Given the description of an element on the screen output the (x, y) to click on. 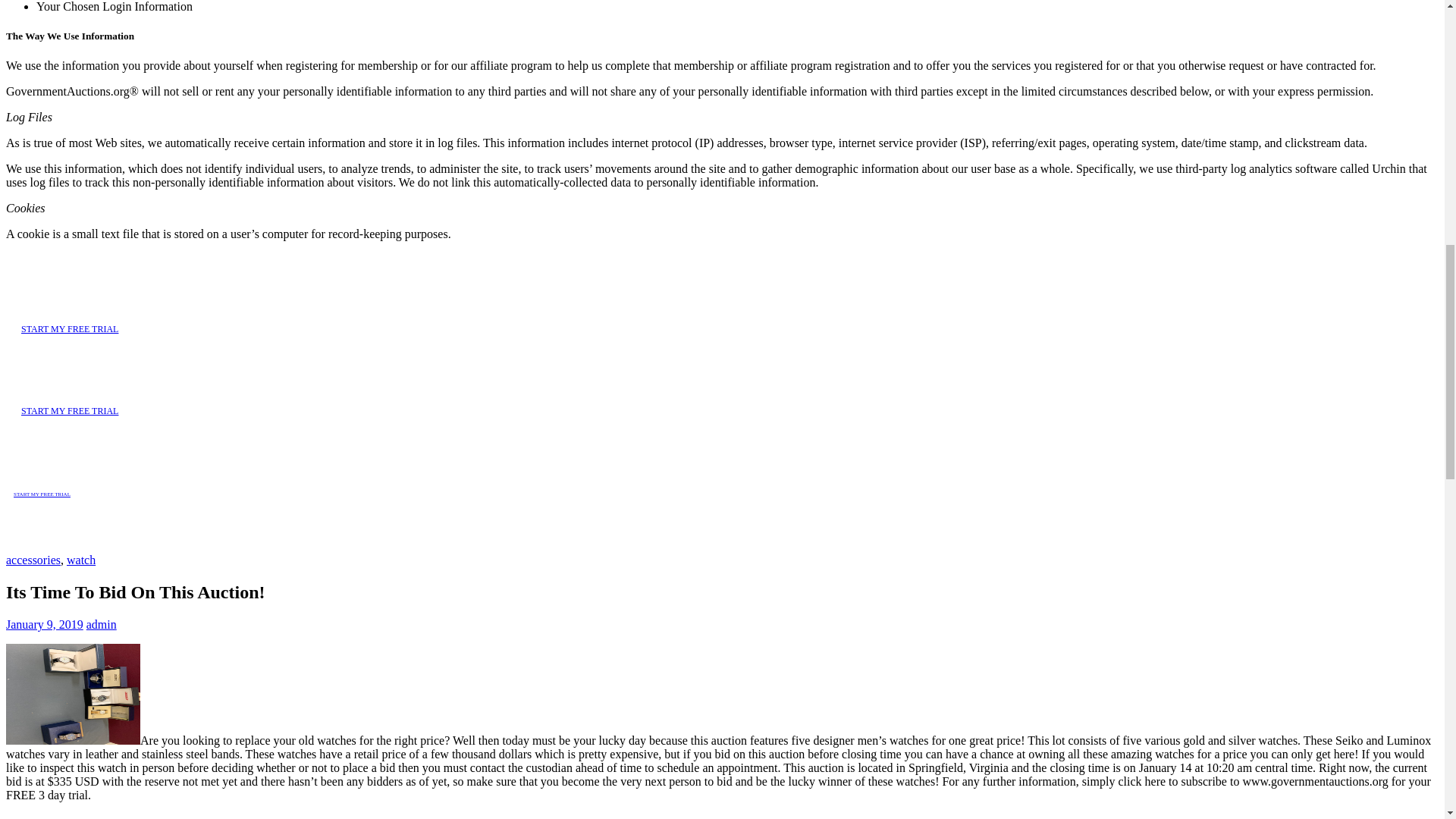
View all posts in watch (81, 559)
View all posts in accessories (33, 559)
